Given the description of an element on the screen output the (x, y) to click on. 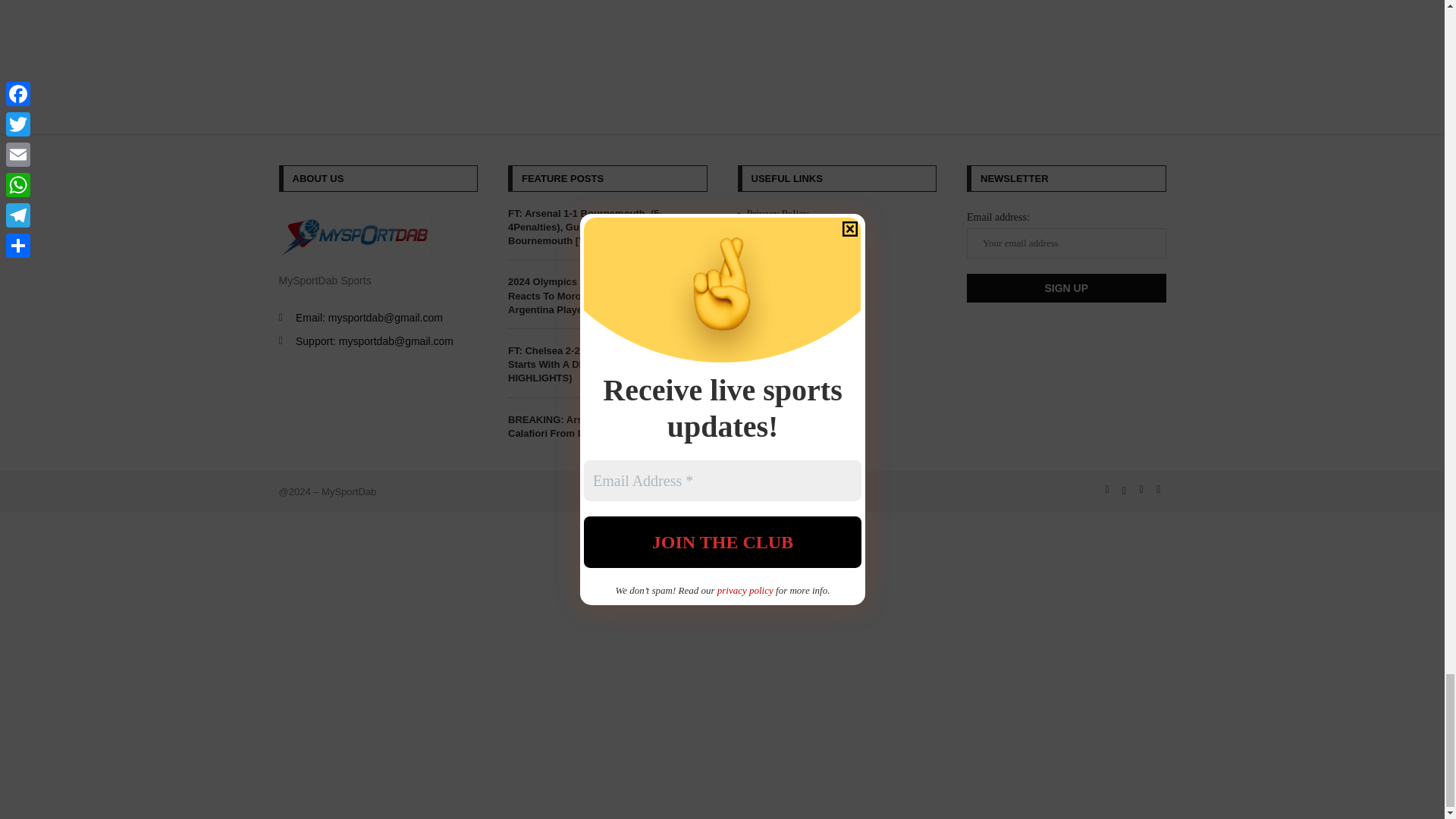
Sign up (1066, 287)
